Given the description of an element on the screen output the (x, y) to click on. 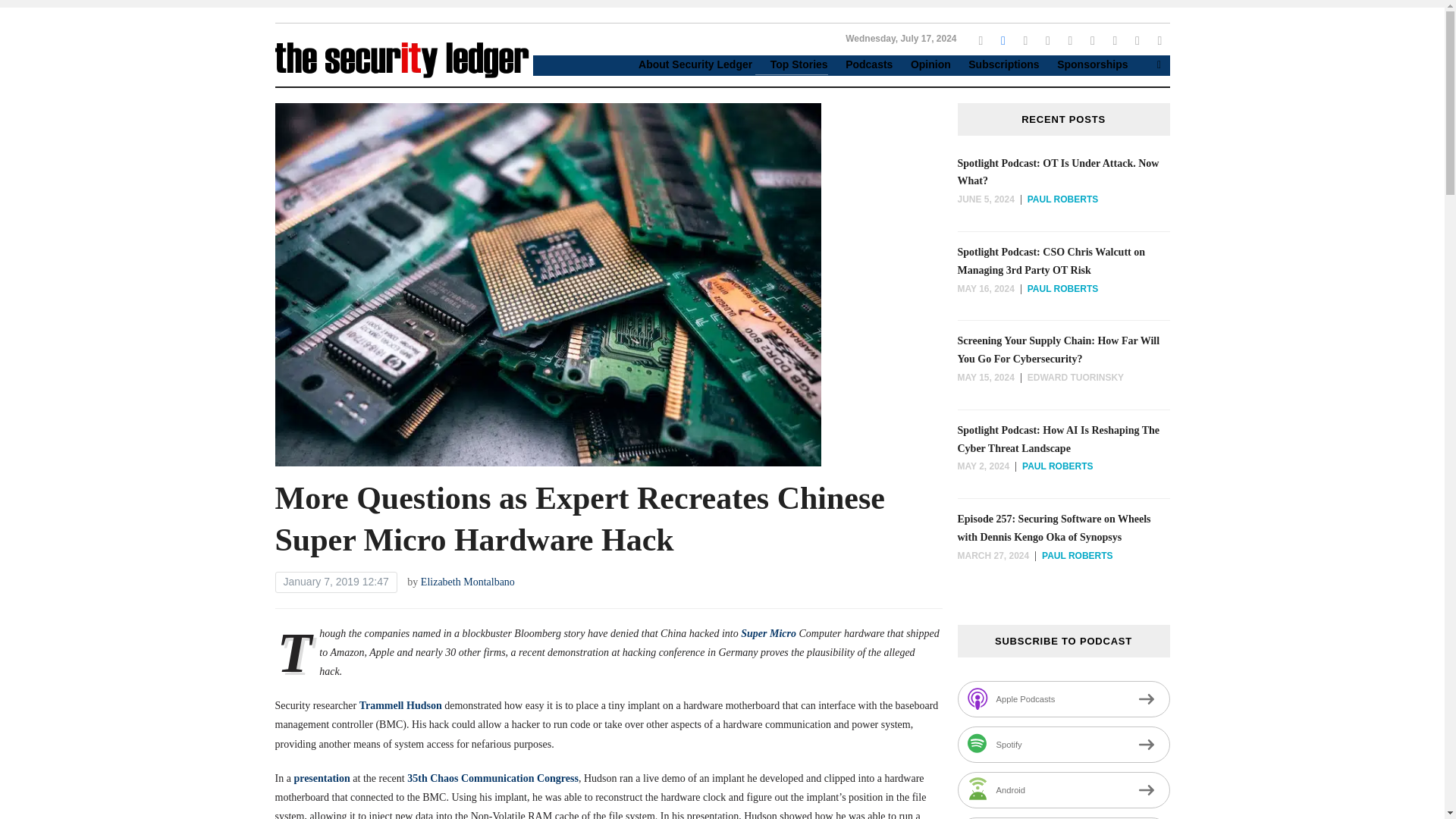
Default Label (1159, 39)
OPINION (166, 121)
youtube (1069, 39)
SUBSCRIPTIONS (147, 151)
ABOUT SECURITY LEDGER (147, 30)
facebook (1002, 39)
PODCASTS (166, 91)
soundcloud (1115, 39)
Follow Me (1002, 39)
TOP STORIES (147, 60)
apple (1092, 39)
About Security Ledger (687, 64)
Friend me on Facebook (980, 39)
Instagram (1025, 39)
Default Label (1069, 39)
